Given the description of an element on the screen output the (x, y) to click on. 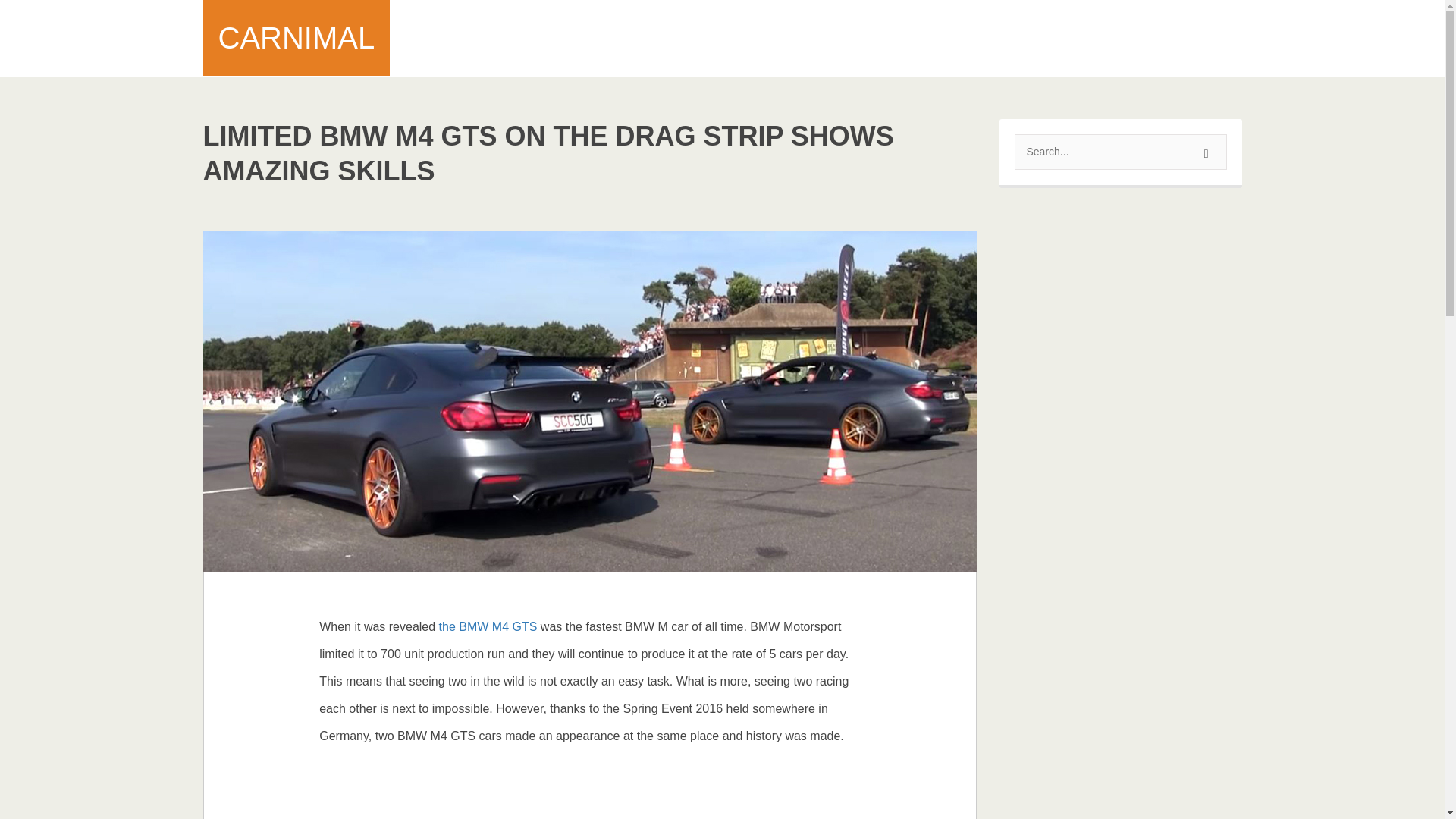
the BMW M4 GTS (488, 626)
CARNIMAL (296, 37)
LIMITED BMW M4 GTS ON THE DRAG STRIP SHOWS AMAZING SKILLS (548, 153)
Limited BMW M4 GTS On The Drag Strip Shows Amazing Skills (589, 399)
Limited BMW M4 GTS On The Drag Strip Shows Amazing Skills (548, 153)
